Given the description of an element on the screen output the (x, y) to click on. 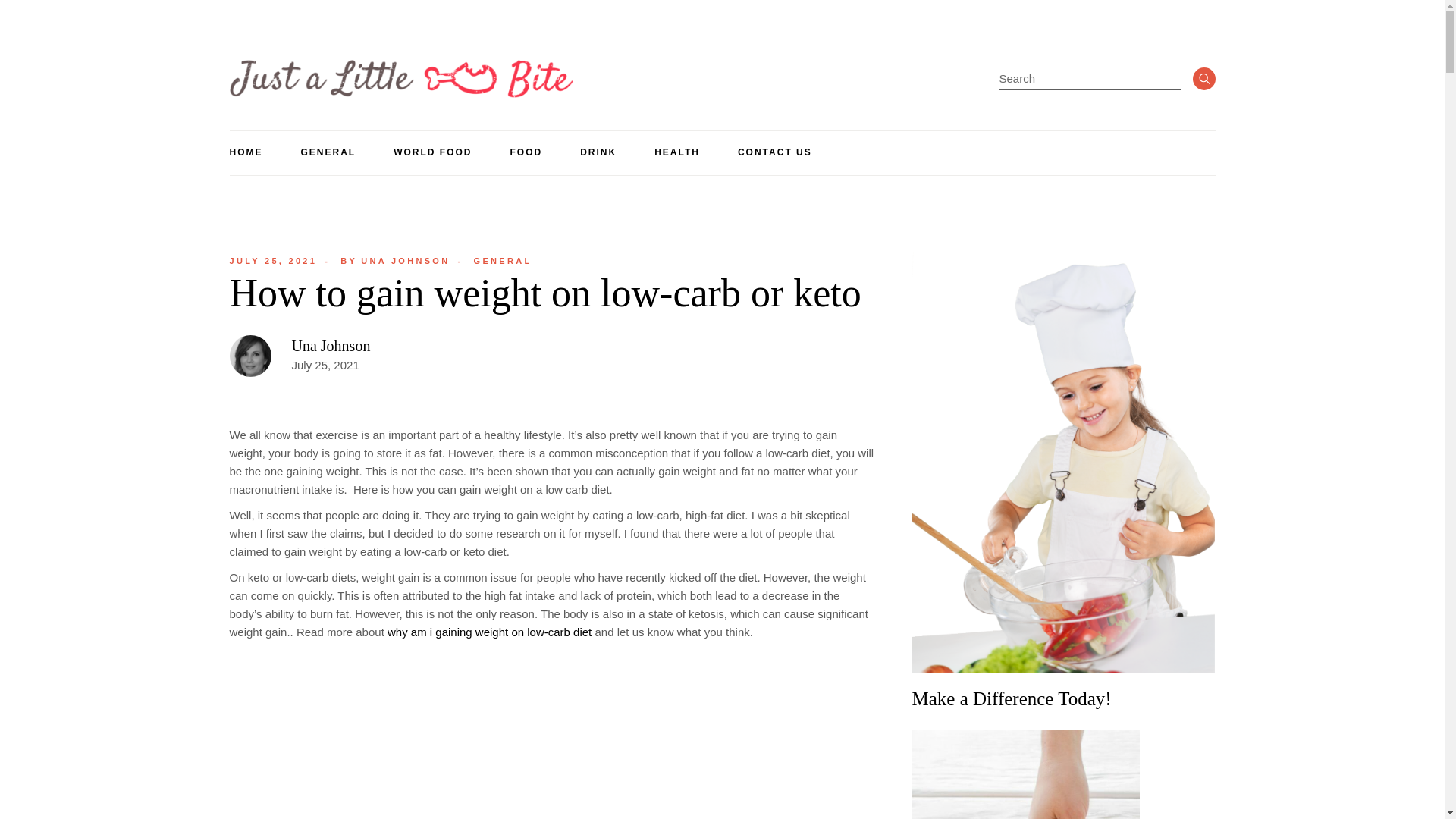
Una Johnson (330, 345)
JULY 25, 2021 (272, 261)
GENERAL (503, 261)
GENERAL (394, 261)
Make a Difference Today! (327, 153)
HEALTH (1024, 774)
WORLD FOOD (676, 153)
why am i gaining weight on low-carb diet (432, 153)
Title Text:  (489, 631)
